Given the description of an element on the screen output the (x, y) to click on. 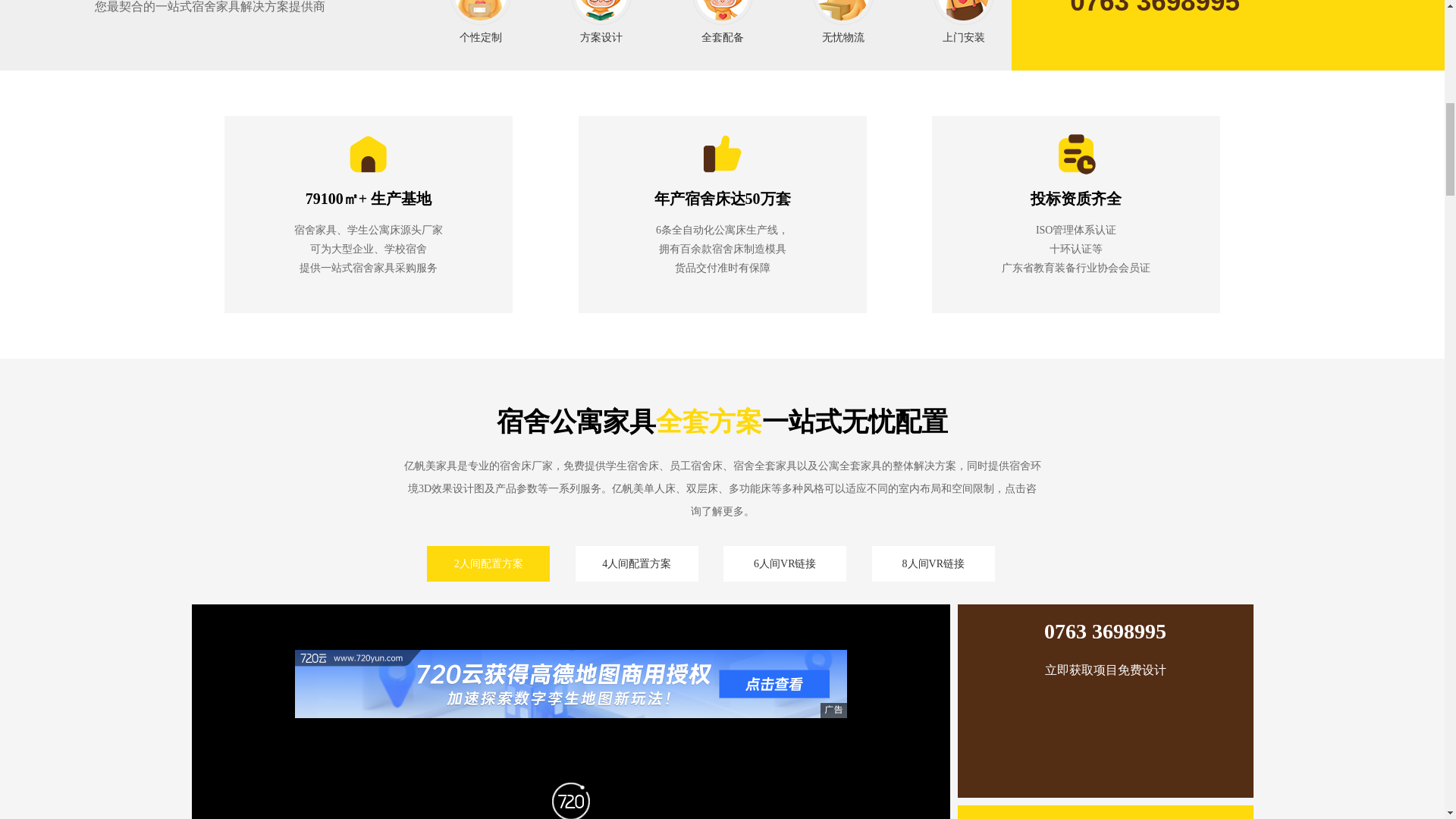
63f33d1e39bf6.png (368, 154)
640bd196e3e60.png (480, 12)
63f33dc8e85d1.png (1075, 154)
640bd2d792e0b.png (721, 12)
640bd1c78e3aa.png (963, 12)
63f33d90d8e4a.png (721, 154)
640bd2c792acd.png (842, 12)
640bd1a2949fe.png (600, 12)
